Given the description of an element on the screen output the (x, y) to click on. 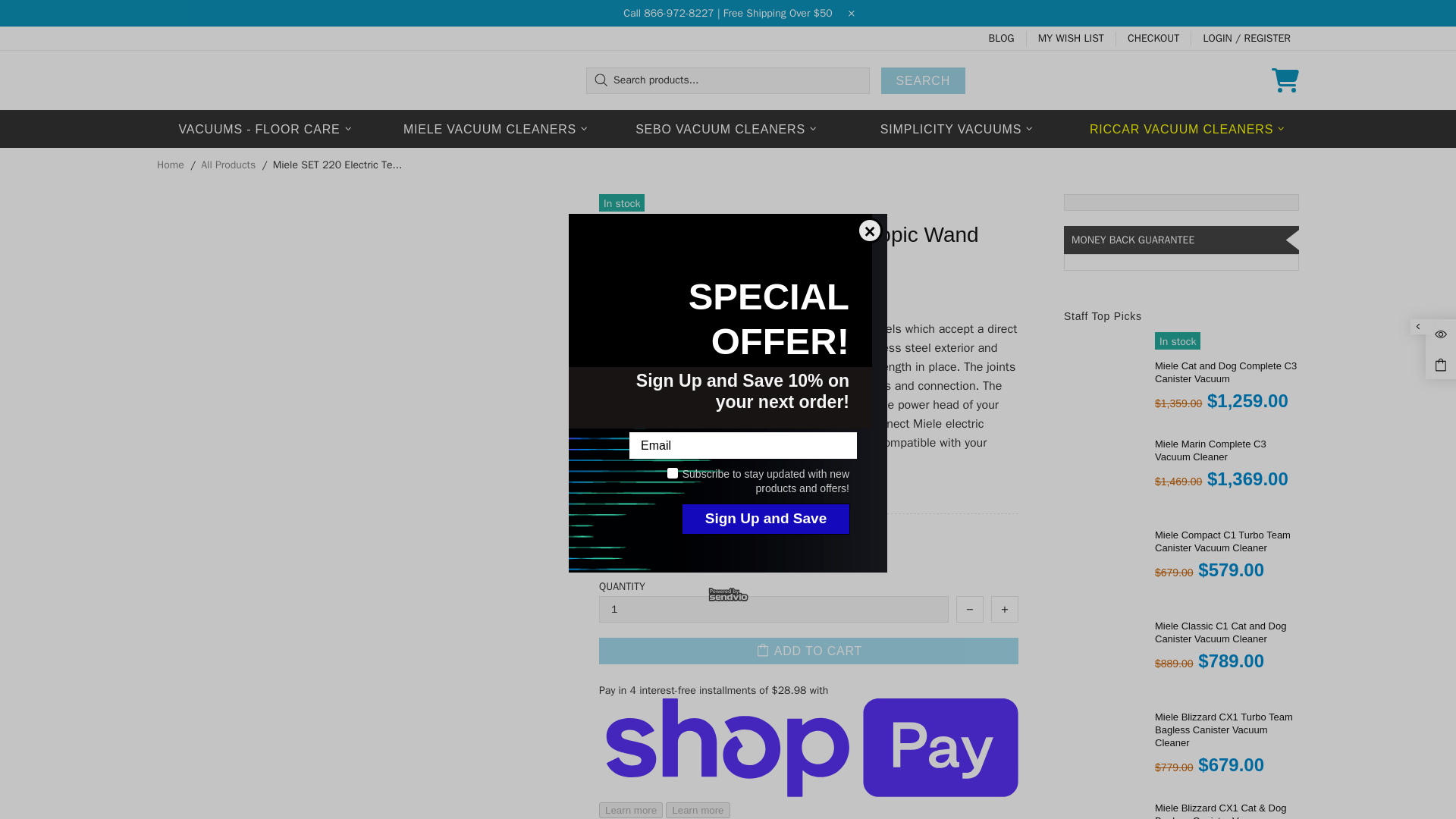
All Products (227, 164)
1 (773, 609)
VACUUMS - FLOOR CARE (266, 128)
SEARCH (922, 80)
MY WISH LIST (1070, 38)
Home (171, 164)
BLOG (1000, 38)
VacuumCleanerMarket (221, 80)
CHECKOUT (1153, 38)
